Given the description of an element on the screen output the (x, y) to click on. 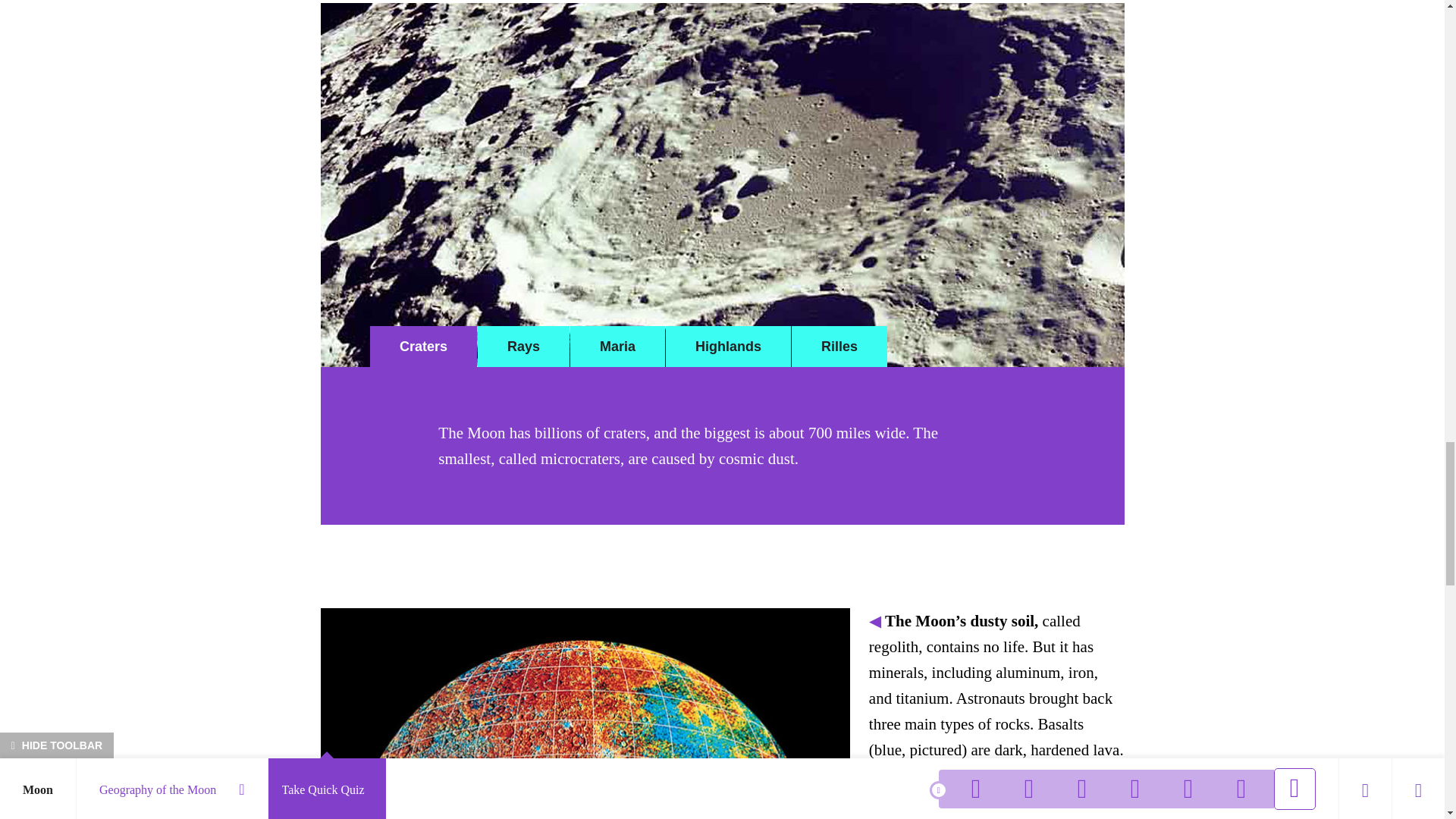
Highlands (727, 345)
Maria (617, 345)
Craters (423, 345)
Rays (523, 345)
Rilles (839, 345)
